Given the description of an element on the screen output the (x, y) to click on. 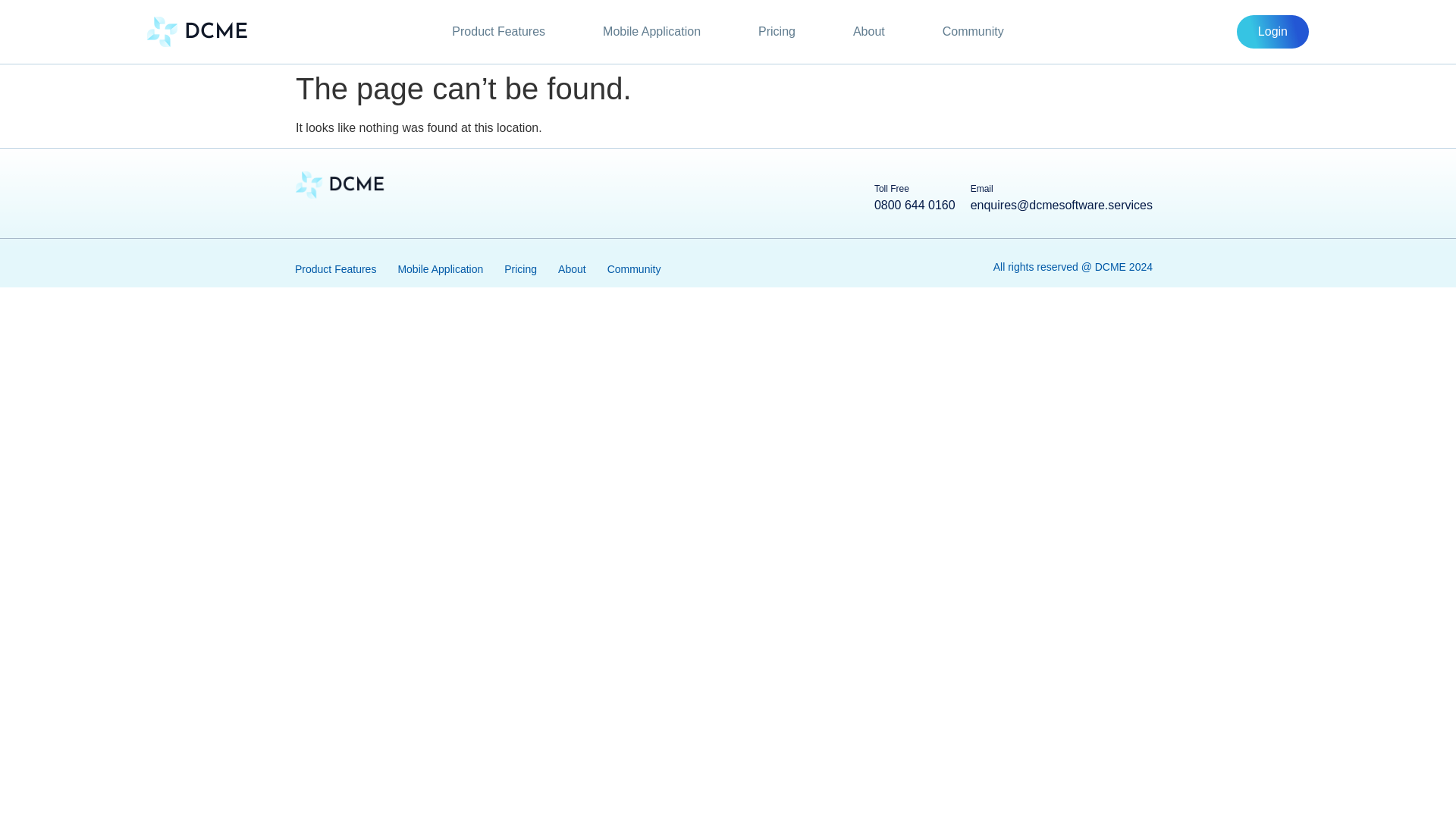
Pricing (776, 31)
Community (973, 31)
Mobile Application (651, 31)
0800 644 0160 (915, 205)
Product Features (498, 31)
Login (1272, 31)
About (869, 31)
